Given the description of an element on the screen output the (x, y) to click on. 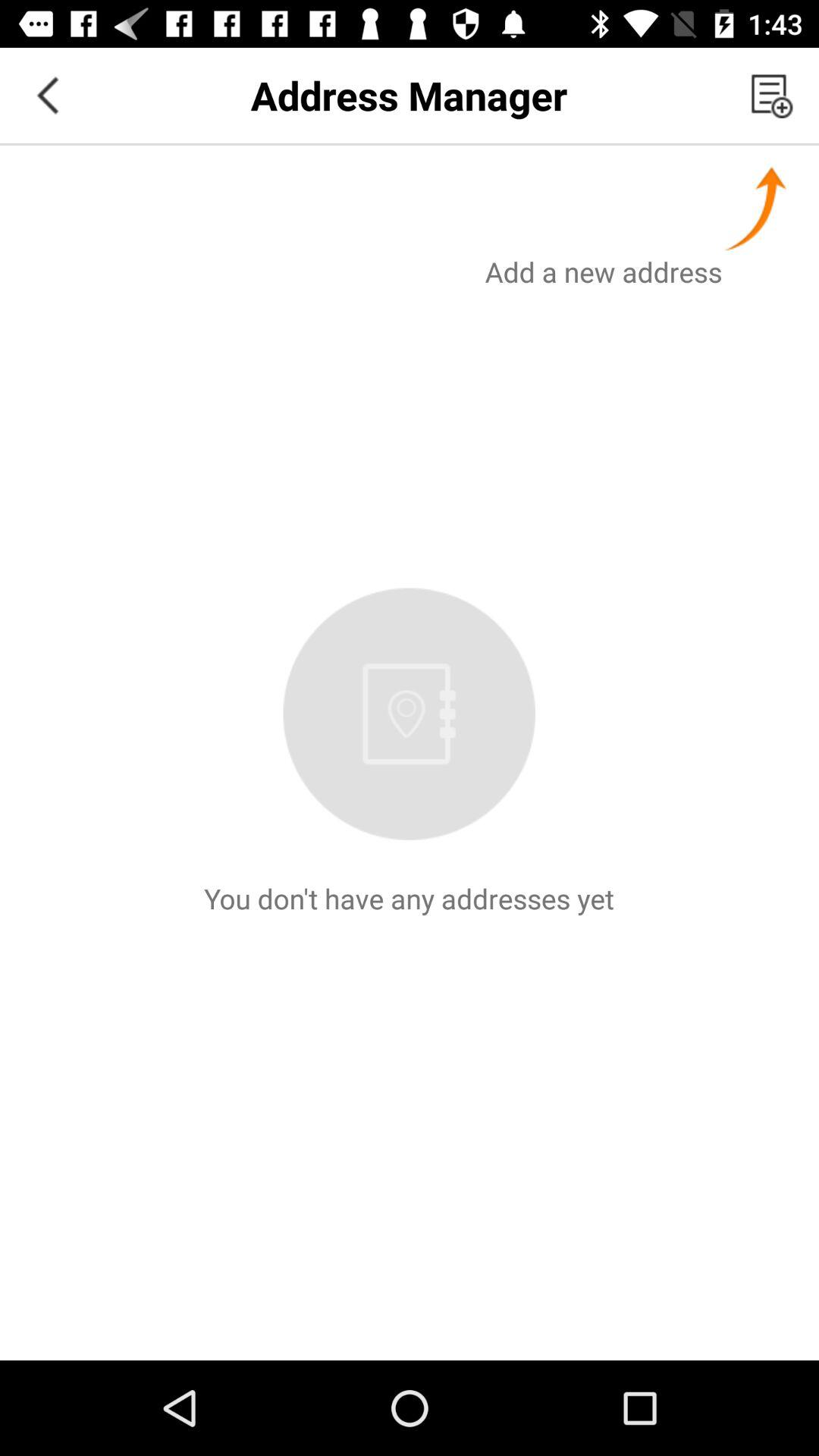
turn on icon at the top left corner (47, 95)
